Given the description of an element on the screen output the (x, y) to click on. 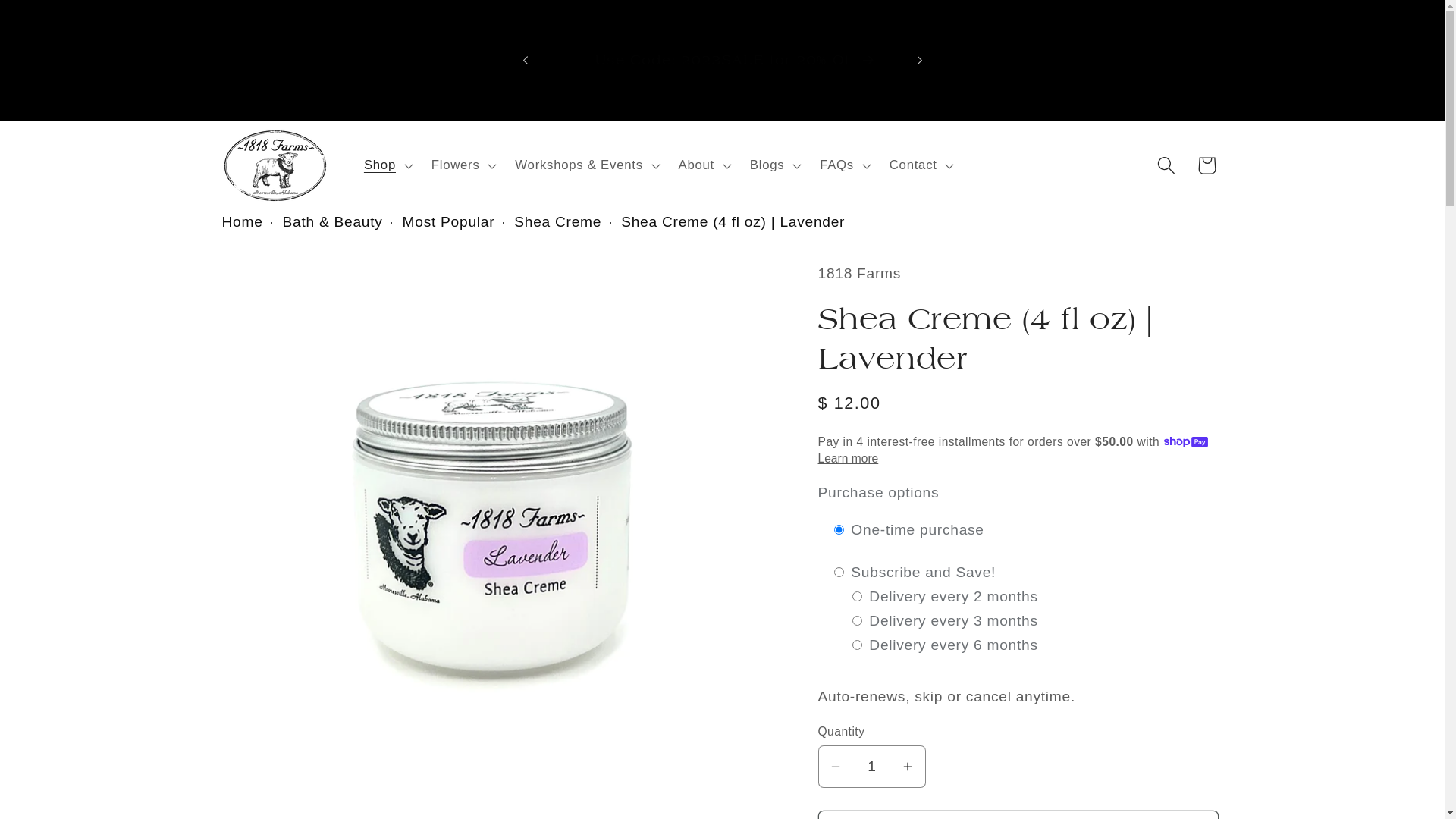
Decrease quantity for Shea Creme (4 fl oz) | Lavender Element type: text (836, 766)
Shea Creme (4 fl oz) | Lavender Element type: text (732, 221)
Skip to product information Element type: text (276, 281)
Increase quantity for Shea Creme (4 fl oz) | Lavender Element type: text (907, 766)
Home Element type: text (249, 221)
Cart Element type: text (1206, 165)
Free Standard Delivery on Orders Over $100 Element type: text (721, 60)
Most Popular Element type: text (456, 221)
Shea Creme Element type: text (565, 221)
Bath & Beauty Element type: text (340, 221)
